Given the description of an element on the screen output the (x, y) to click on. 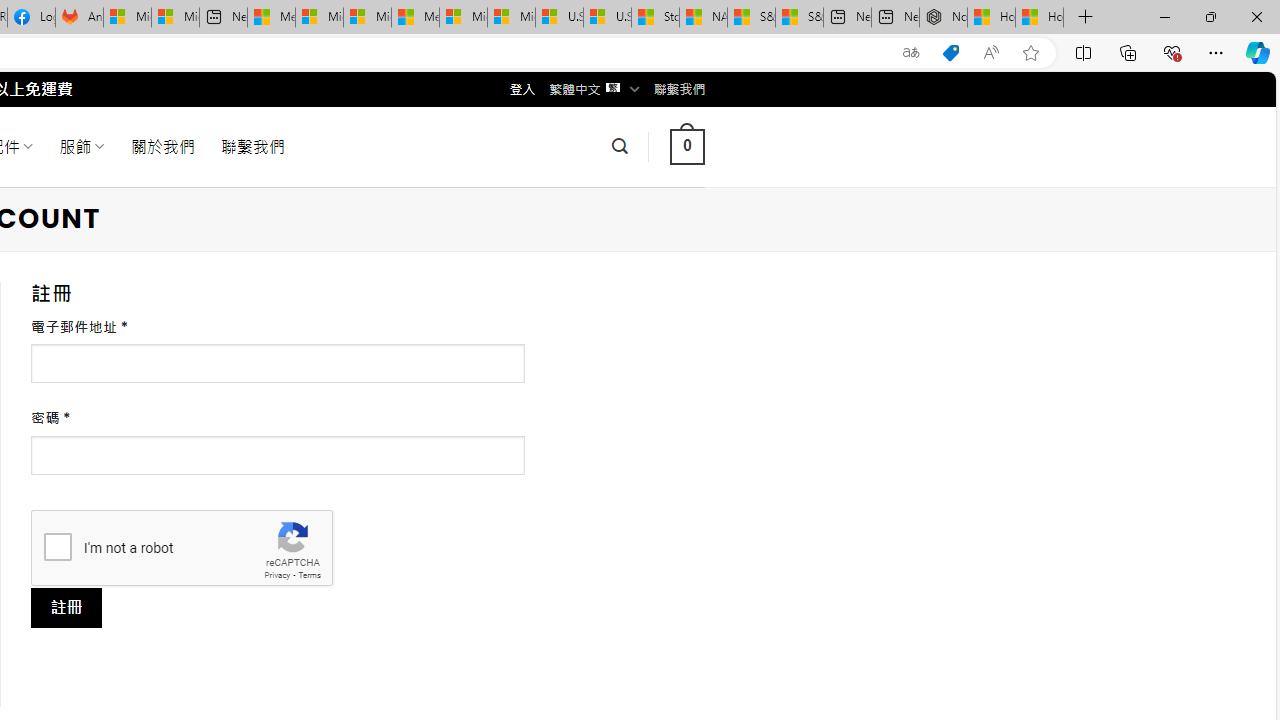
S&P 500, Nasdaq end lower, weighed by Nvidia dip | Watch (799, 17)
 0  (687, 146)
I'm not a robot (57, 546)
